Given the description of an element on the screen output the (x, y) to click on. 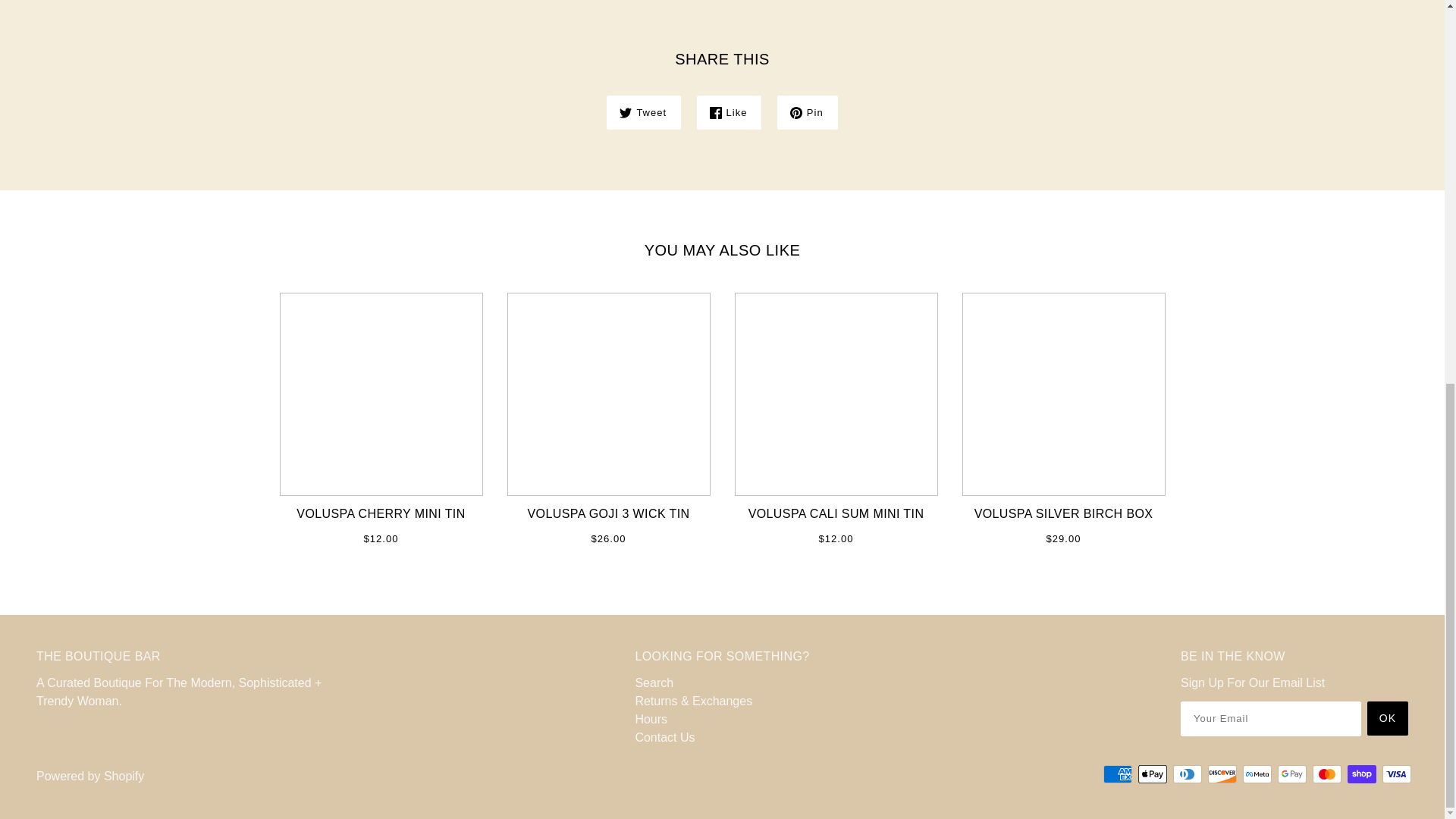
Visa (1395, 773)
Pin (807, 112)
Shop Pay (1361, 773)
Tweet (644, 112)
Discover (1222, 773)
Contact Us (664, 737)
Search (653, 682)
Apple Pay (1152, 773)
Diners Club (1187, 773)
Hours (650, 718)
American Express (1117, 773)
Meta Pay (1257, 773)
Google Pay (1292, 773)
Mastercard (1326, 773)
Like (729, 112)
